Given the description of an element on the screen output the (x, y) to click on. 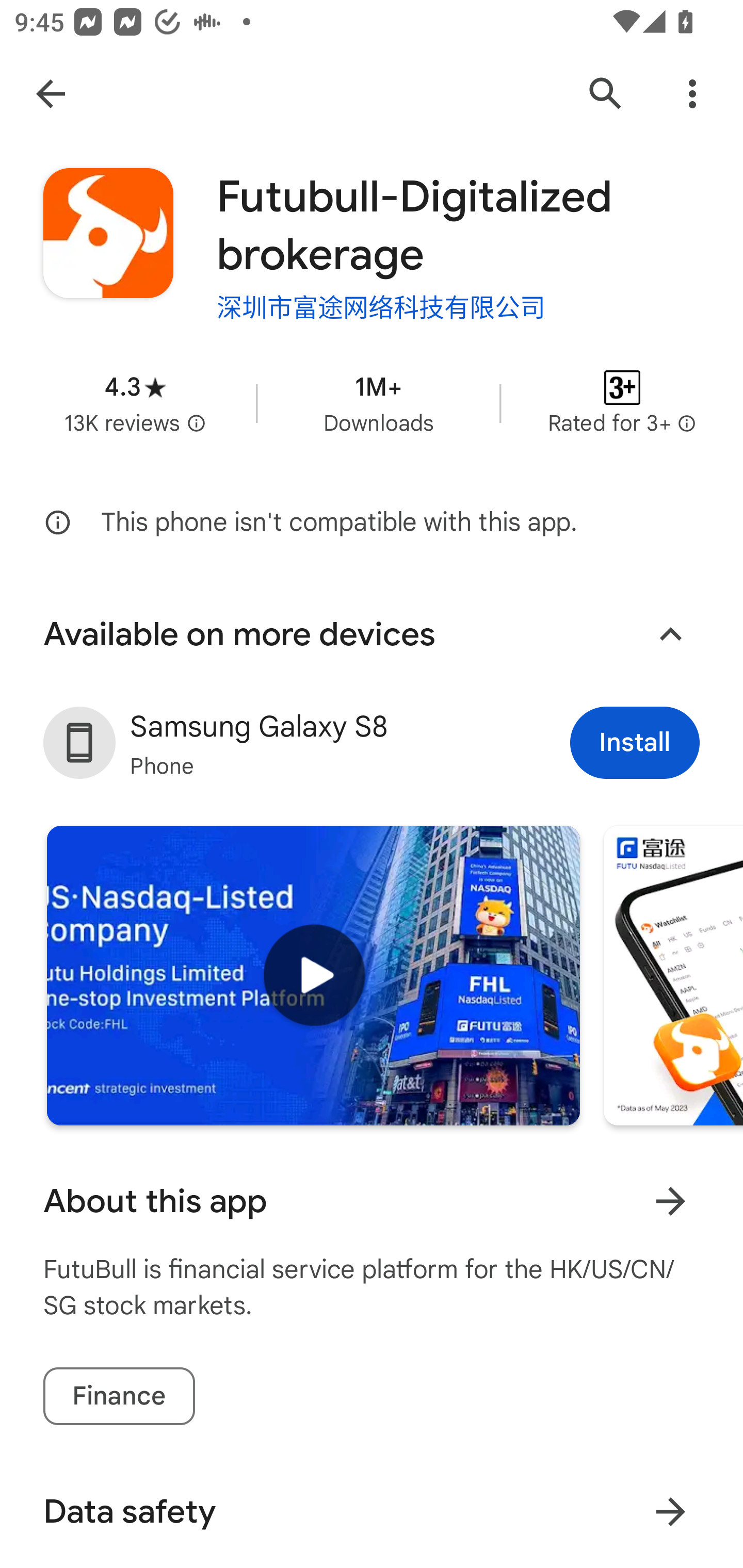
Navigate up (50, 93)
Search Google Play (605, 93)
More Options (692, 93)
深圳市富途网络科技有限公司 (380, 305)
Average rating 4.3 stars in 13 thousand reviews (135, 402)
Content rating Rated for 3+ (622, 402)
Available on more devices Collapse (371, 634)
Collapse (670, 634)
Install (634, 742)
Play trailer for "Futubull-Digitalized brokerage" (313, 975)
Screenshot "1" of "8" (673, 975)
About this app Learn more About this app (371, 1200)
Learn more About this app (670, 1200)
Finance tag (118, 1396)
Data safety Learn more about data safety (371, 1511)
Learn more about data safety (670, 1512)
